Given the description of an element on the screen output the (x, y) to click on. 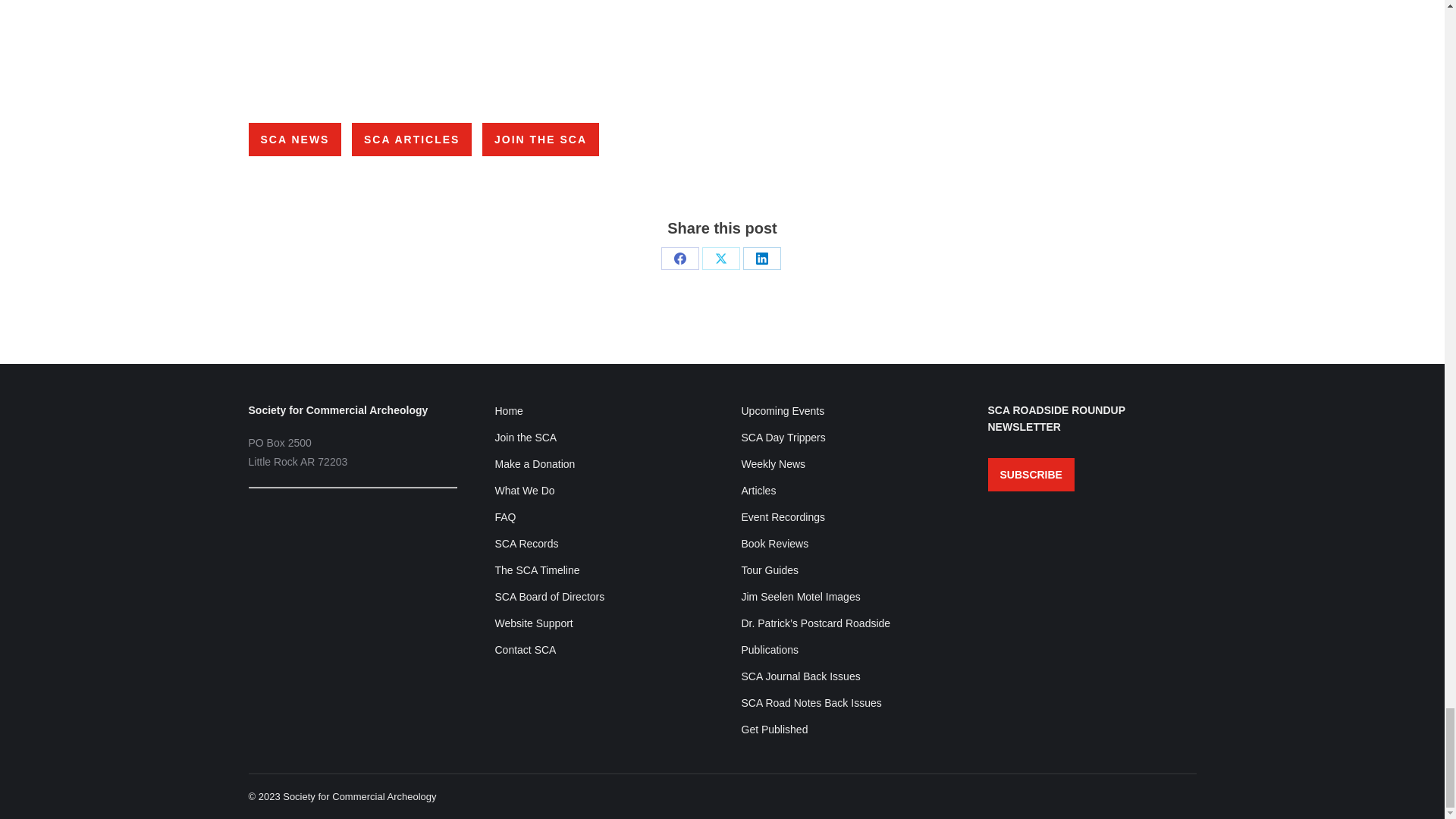
Facebook (679, 258)
LinkedIn (761, 258)
X (720, 258)
